Given the description of an element on the screen output the (x, y) to click on. 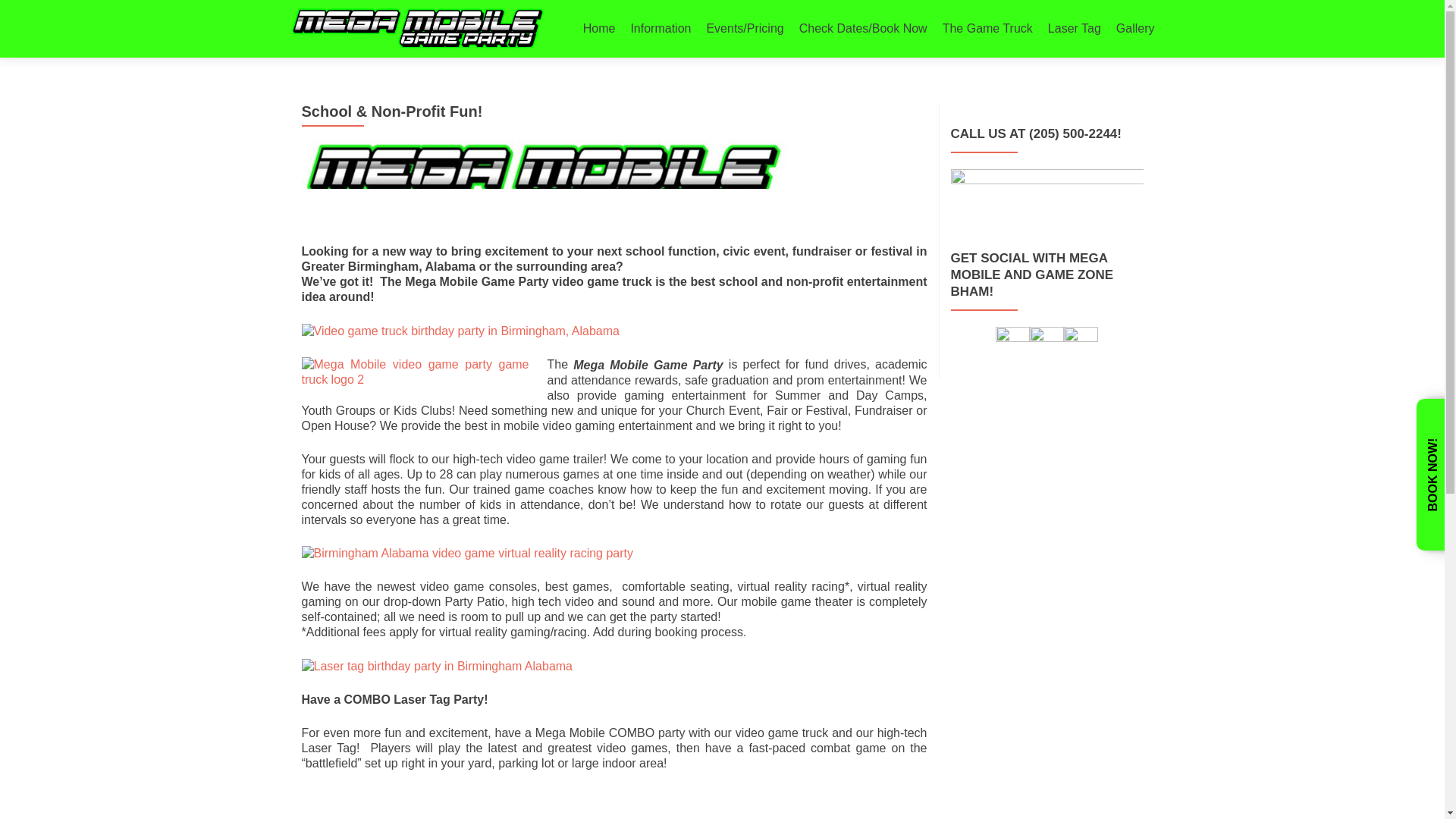
Gallery (1135, 28)
Skip to content (623, 9)
Information (660, 28)
The Game Truck (987, 28)
Home (599, 28)
Laser Tag (1074, 28)
